Given the description of an element on the screen output the (x, y) to click on. 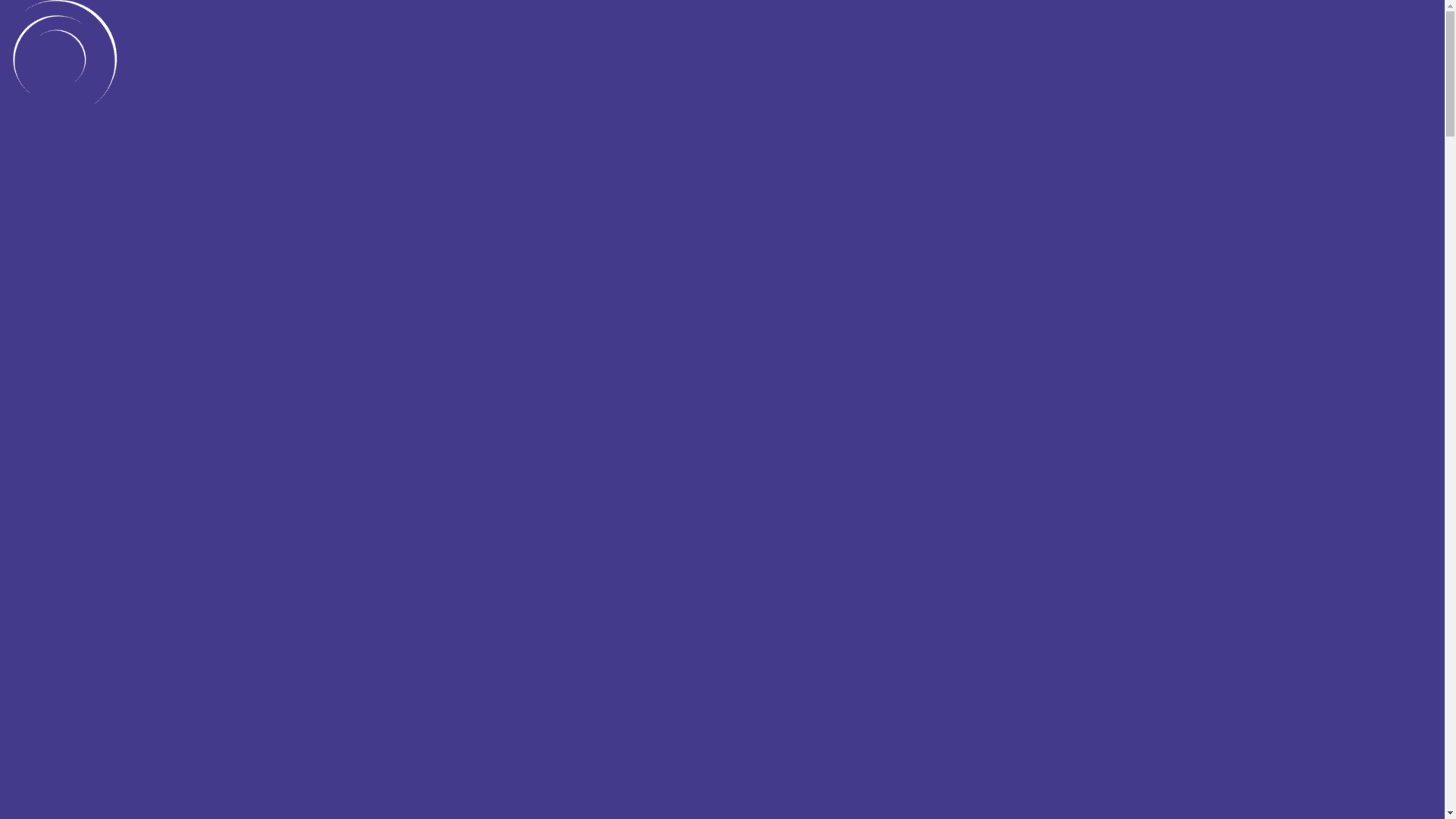
+375 29 313 93 09 Element type: text (1109, 7)
weroxydance@gmail.com Element type: text (1005, 7)
